Given the description of an element on the screen output the (x, y) to click on. 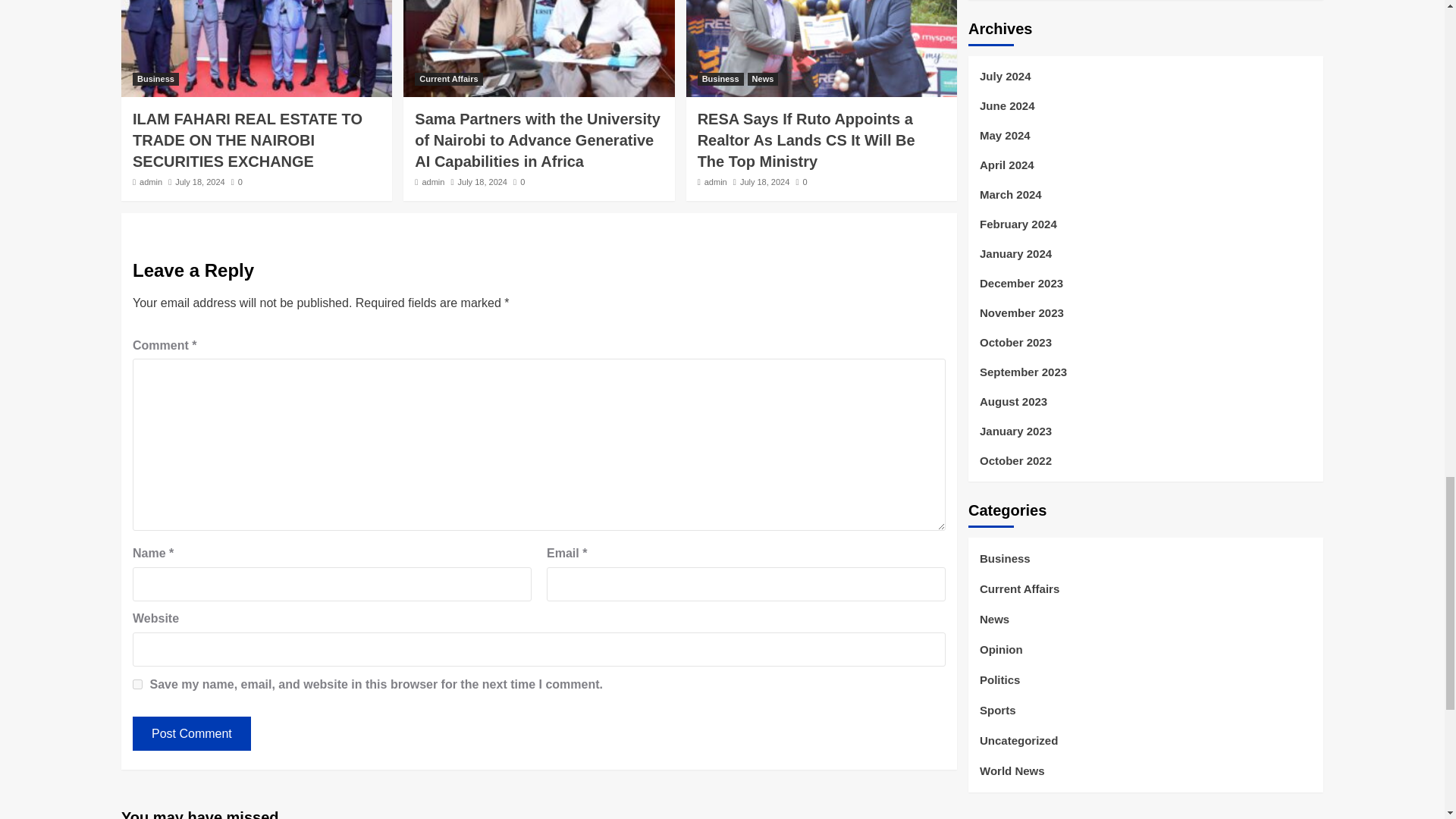
Business (155, 78)
Business (720, 78)
July 18, 2024 (764, 181)
0 (518, 181)
July 18, 2024 (482, 181)
admin (433, 181)
Post Comment (191, 733)
admin (150, 181)
Post Comment (191, 733)
July 18, 2024 (199, 181)
Current Affairs (447, 78)
0 (800, 181)
